Given the description of an element on the screen output the (x, y) to click on. 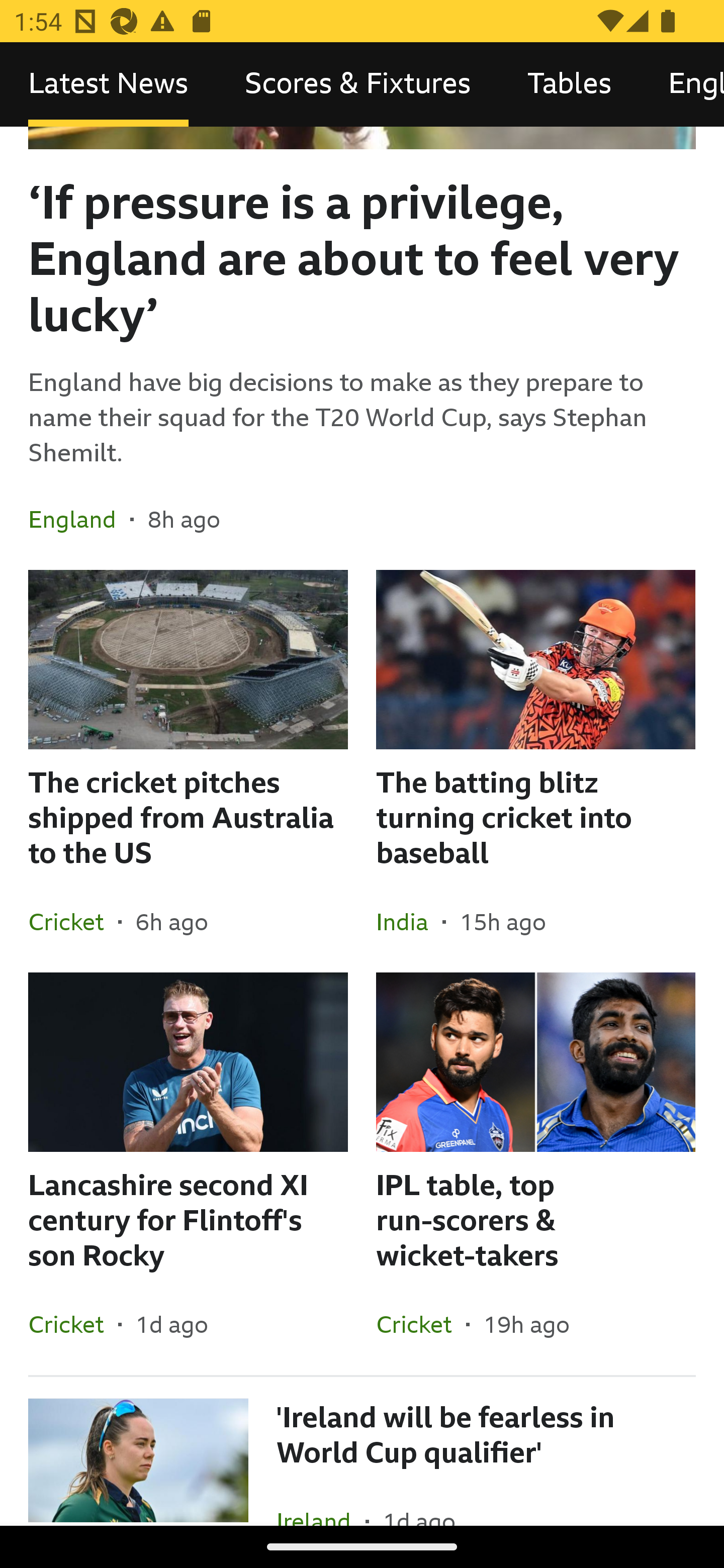
Latest News, selected Latest News (108, 84)
Scores & Fixtures (357, 84)
Tables (569, 84)
England In the section England (79, 518)
India In the section India (408, 921)
